Given the description of an element on the screen output the (x, y) to click on. 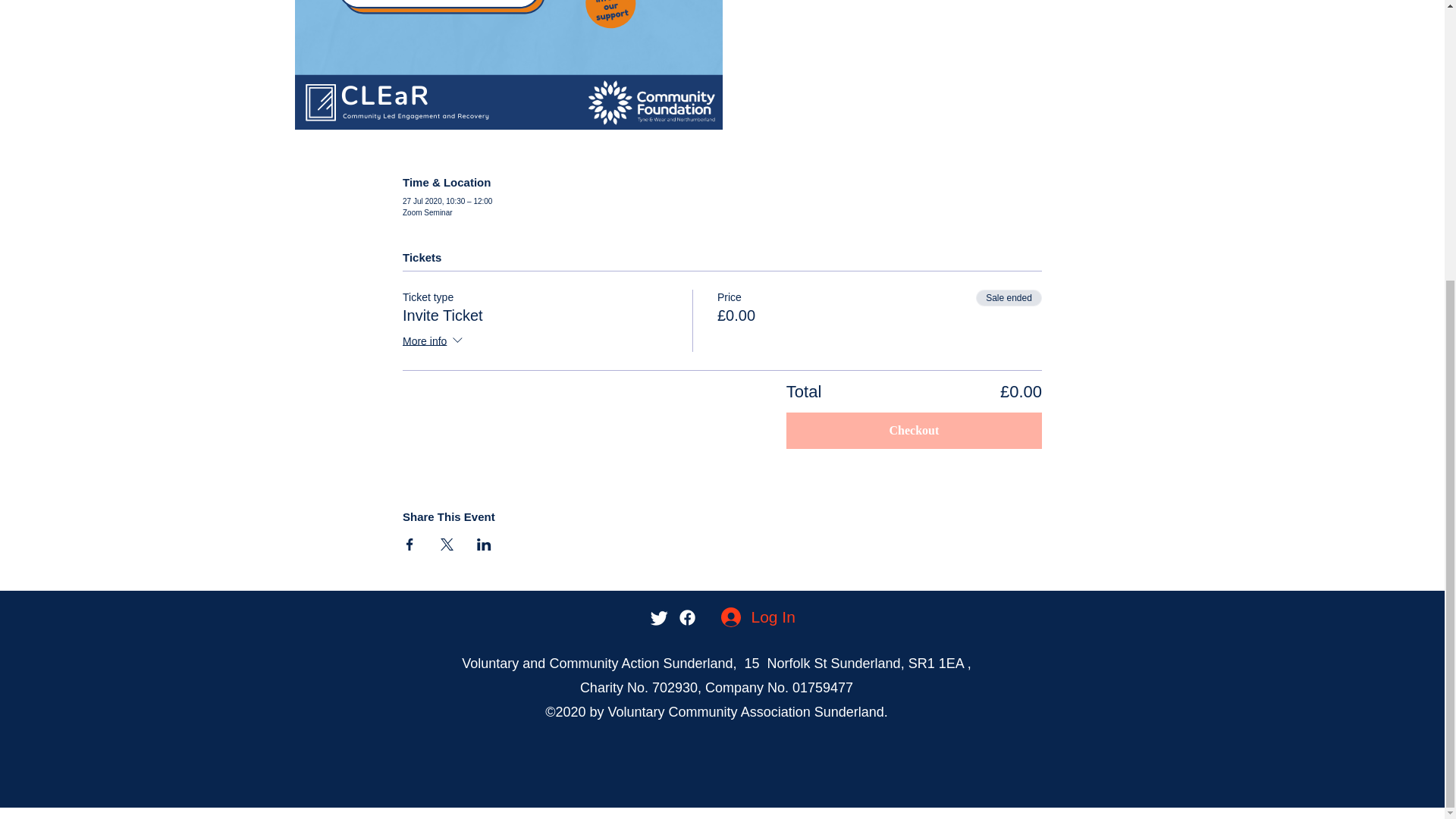
Checkout (914, 429)
Log In (751, 616)
More info (434, 341)
